Given the description of an element on the screen output the (x, y) to click on. 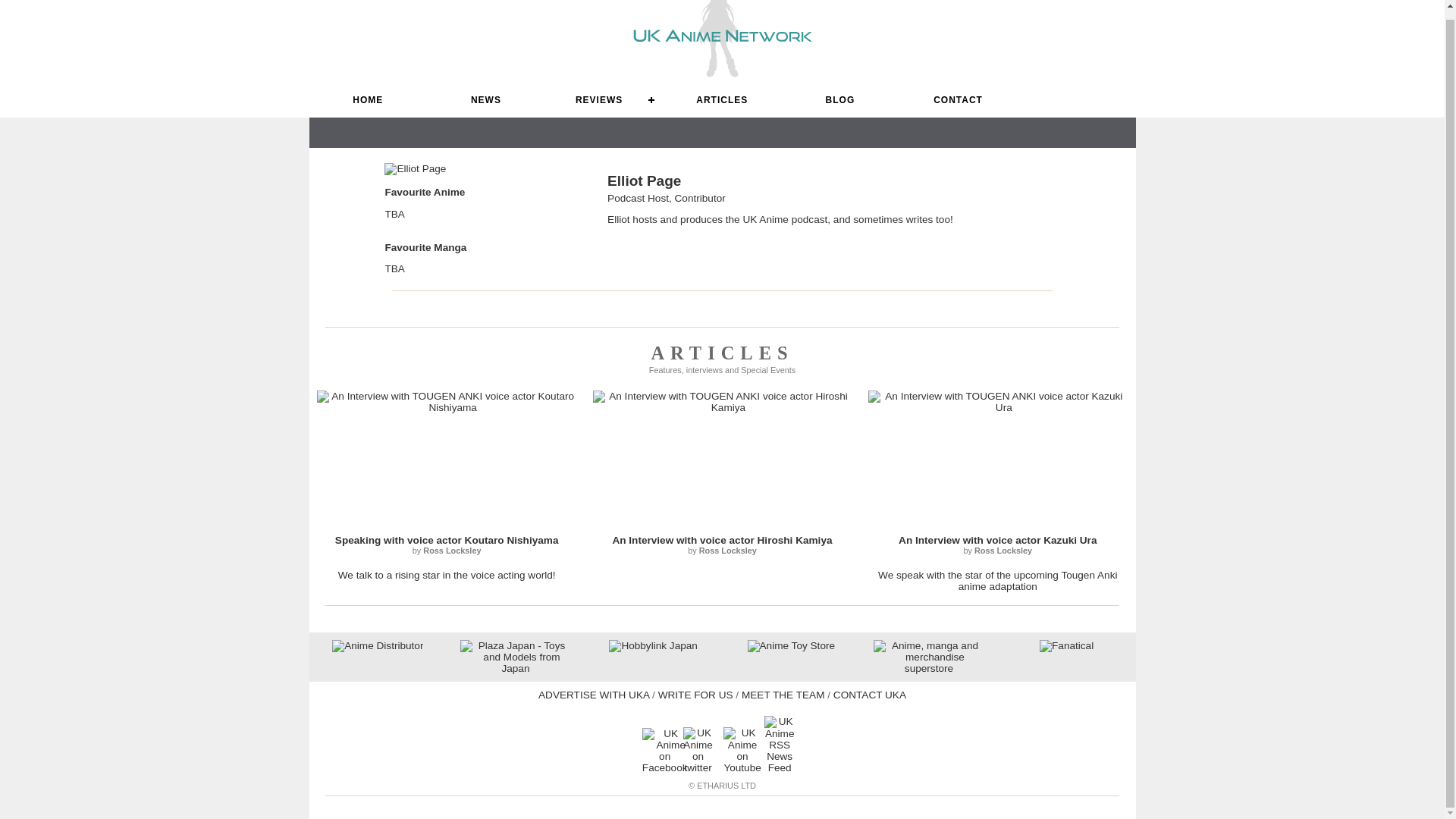
Anime Distributor (377, 645)
CONTACT UKA (868, 695)
Write for the UK Anime Network (868, 695)
Write for the UK Anime Network (695, 695)
Anime, manga and merchandise superstore (928, 668)
MEET THE TEAM (783, 695)
Anime Toy Store (791, 645)
Meet the UK Anime Network Team (783, 695)
NEWS (485, 99)
An Interview with voice actor Hiroshi Kamiya (721, 540)
